Given the description of an element on the screen output the (x, y) to click on. 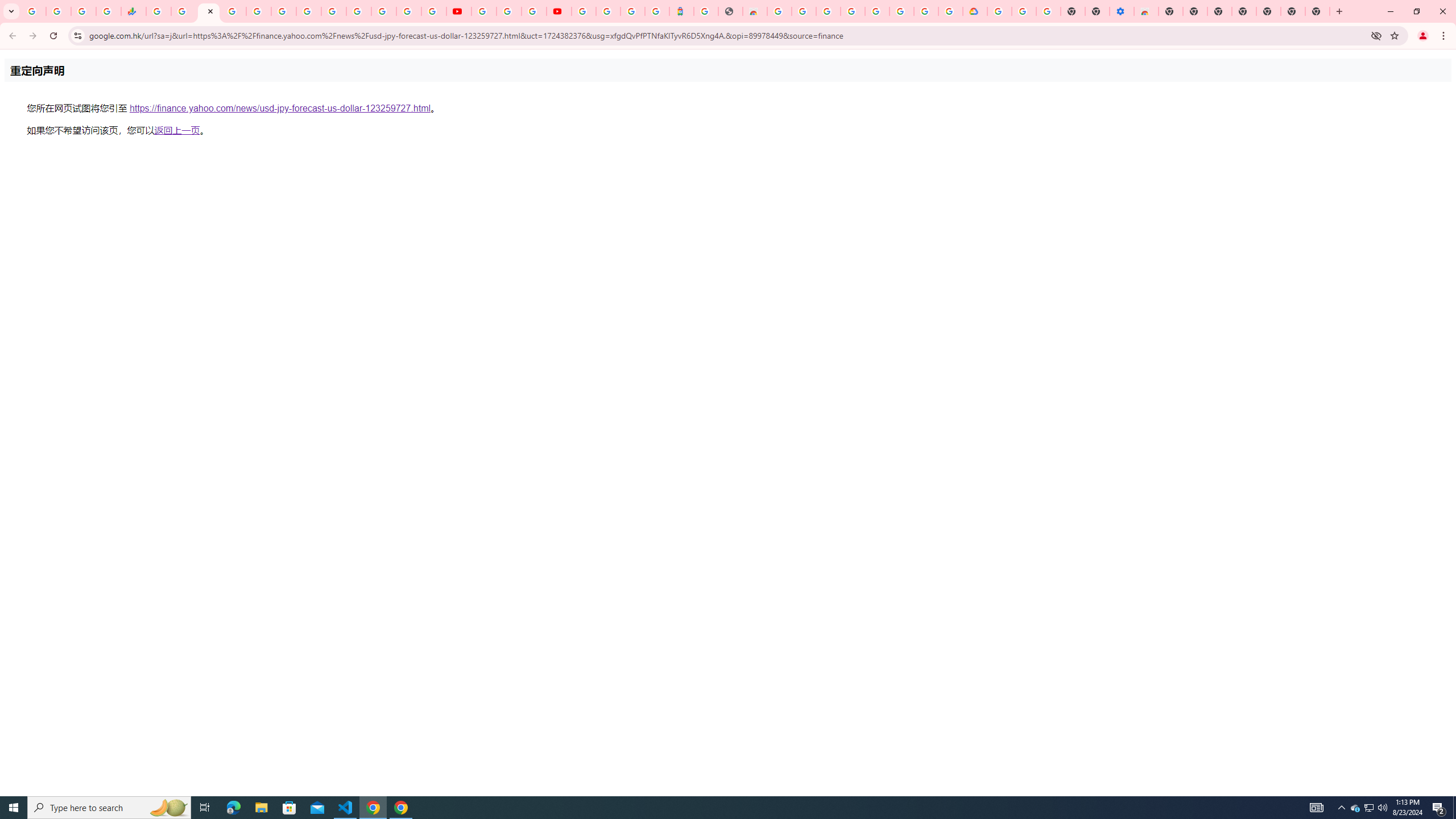
Settings - Accessibility (1121, 11)
Ad Settings (827, 11)
YouTube (483, 11)
Chrome Web Store - Household (754, 11)
Sign in - Google Accounts (852, 11)
YouTube (332, 11)
